Given the description of an element on the screen output the (x, y) to click on. 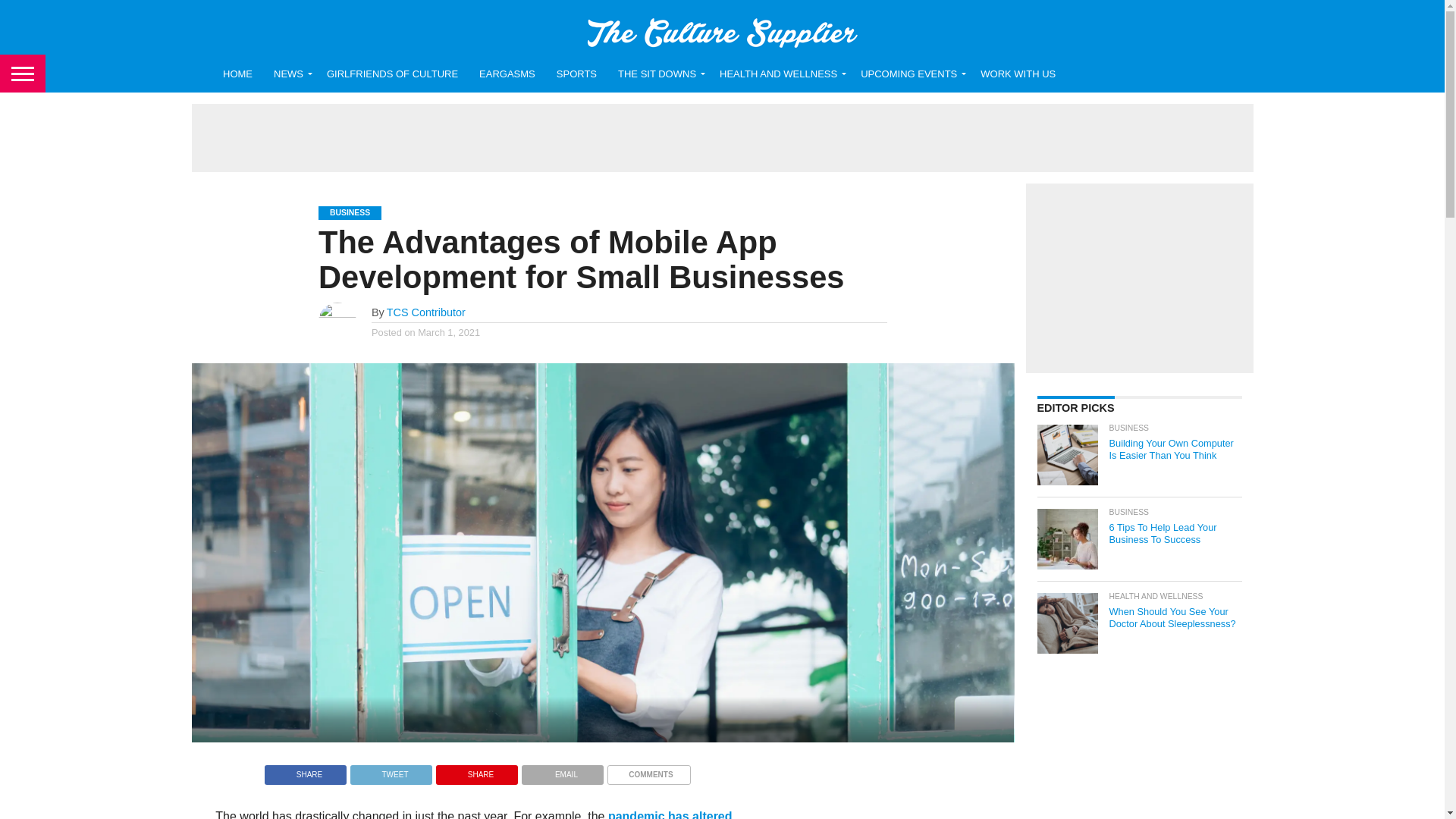
Advertisement (1138, 278)
TCS Contributor (426, 312)
Tweet This Post (390, 770)
HEALTH AND WELLNESS (779, 73)
EARGASMS (507, 73)
GIRLFRIENDS OF CULTURE (391, 73)
WORK WITH US (1017, 73)
Posts by TCS Contributor (426, 312)
HOME (237, 73)
THE SIT DOWNS (658, 73)
NEWS (289, 73)
SPORTS (576, 73)
UPCOMING EVENTS (909, 73)
Pin This Post (476, 770)
Share on Facebook (305, 770)
